Given the description of an element on the screen output the (x, y) to click on. 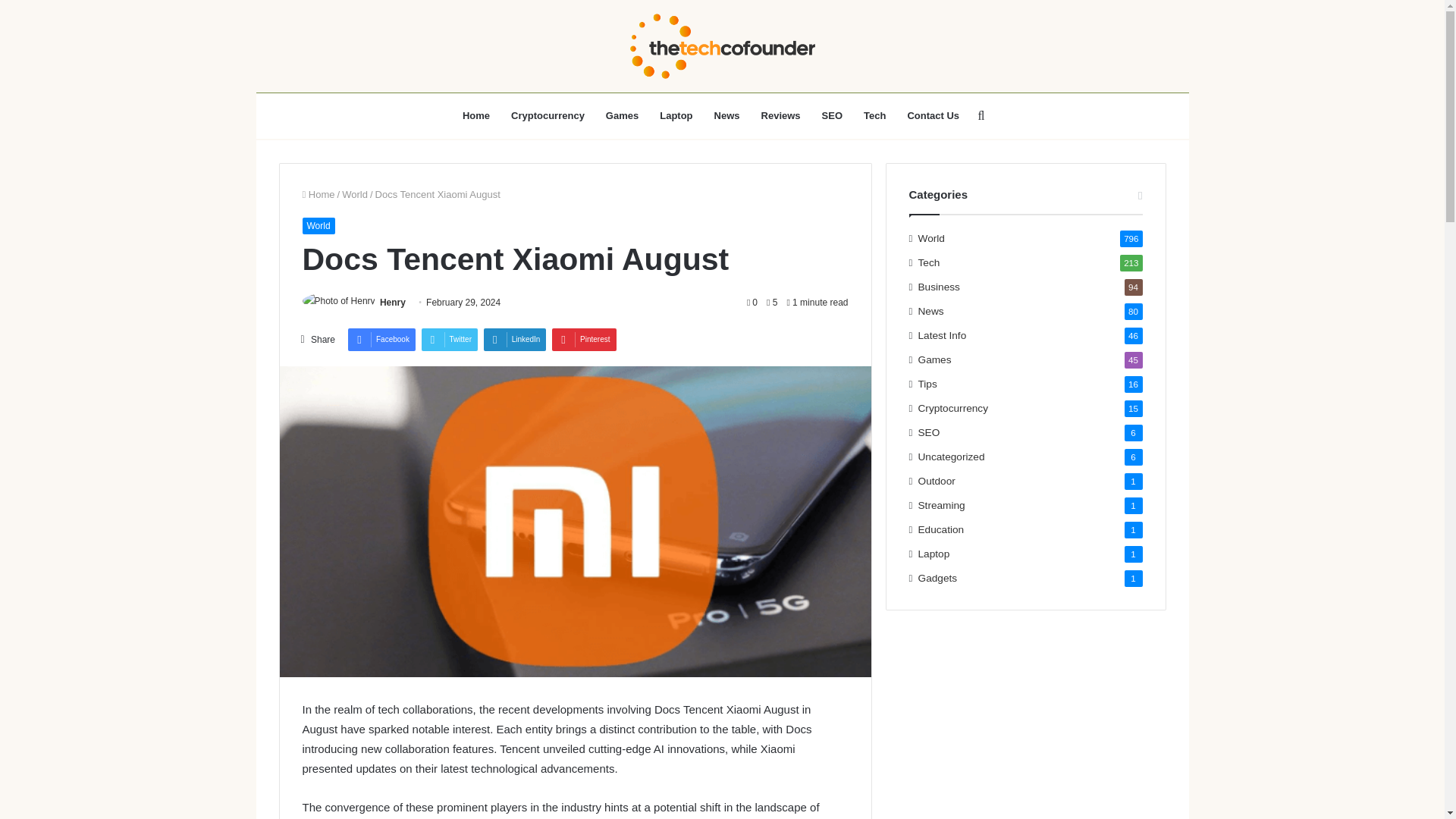
Cryptocurrency (547, 115)
Home (475, 115)
World (317, 225)
Twitter (449, 339)
Contact Us (932, 115)
Tech (874, 115)
Laptop (676, 115)
Henry (393, 302)
SEO (831, 115)
Games (622, 115)
LinkedIn (515, 339)
News (727, 115)
Facebook (380, 339)
Tech Cofounder (722, 46)
Reviews (780, 115)
